Given the description of an element on the screen output the (x, y) to click on. 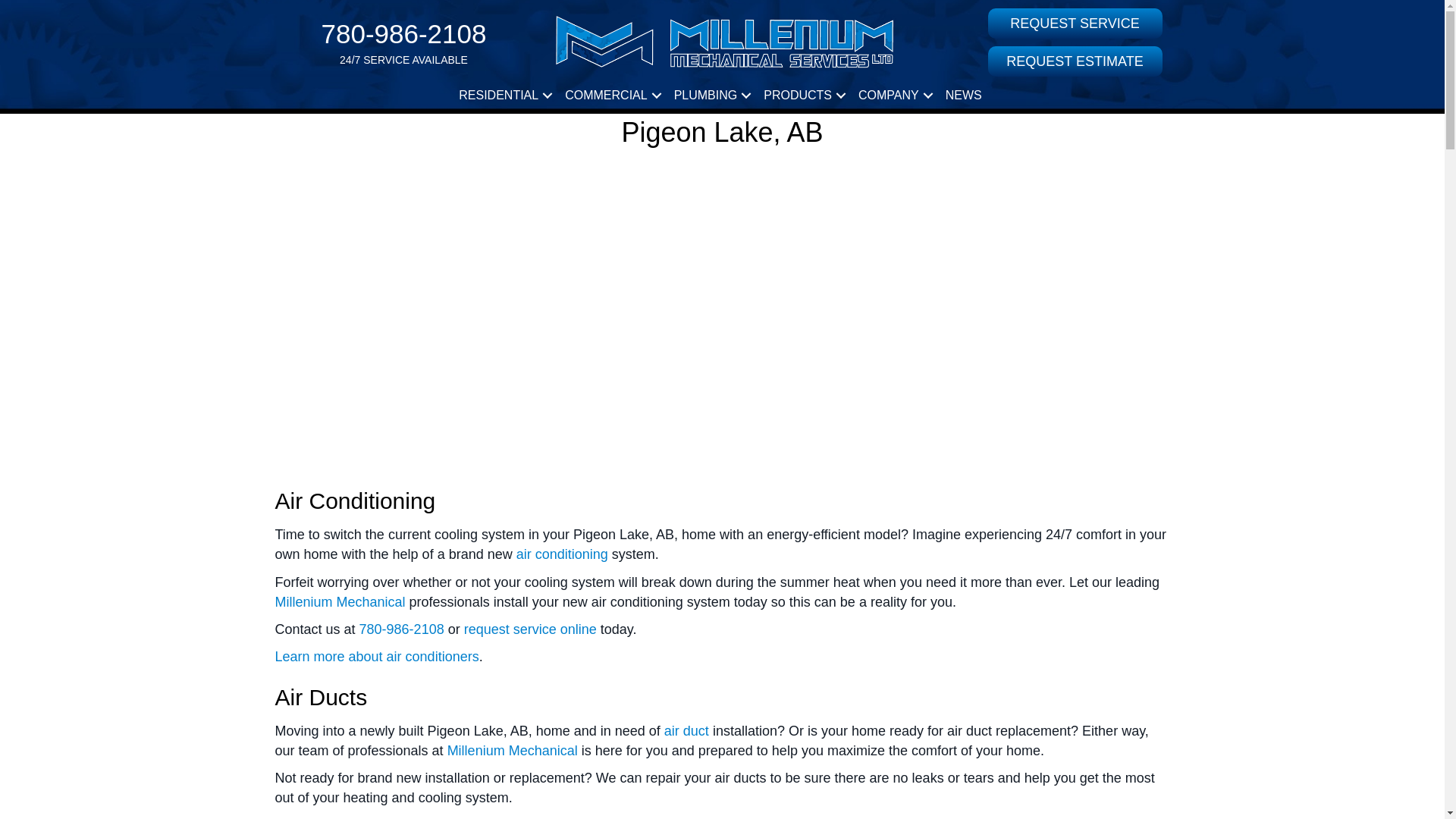
logo-white outline (722, 41)
RESIDENTIAL (503, 94)
REQUEST SERVICE (1074, 23)
COMMERCIAL (611, 94)
REQUEST ESTIMATE (1074, 60)
780-986-2108 (403, 33)
PLUMBING (710, 94)
